Given the description of an element on the screen output the (x, y) to click on. 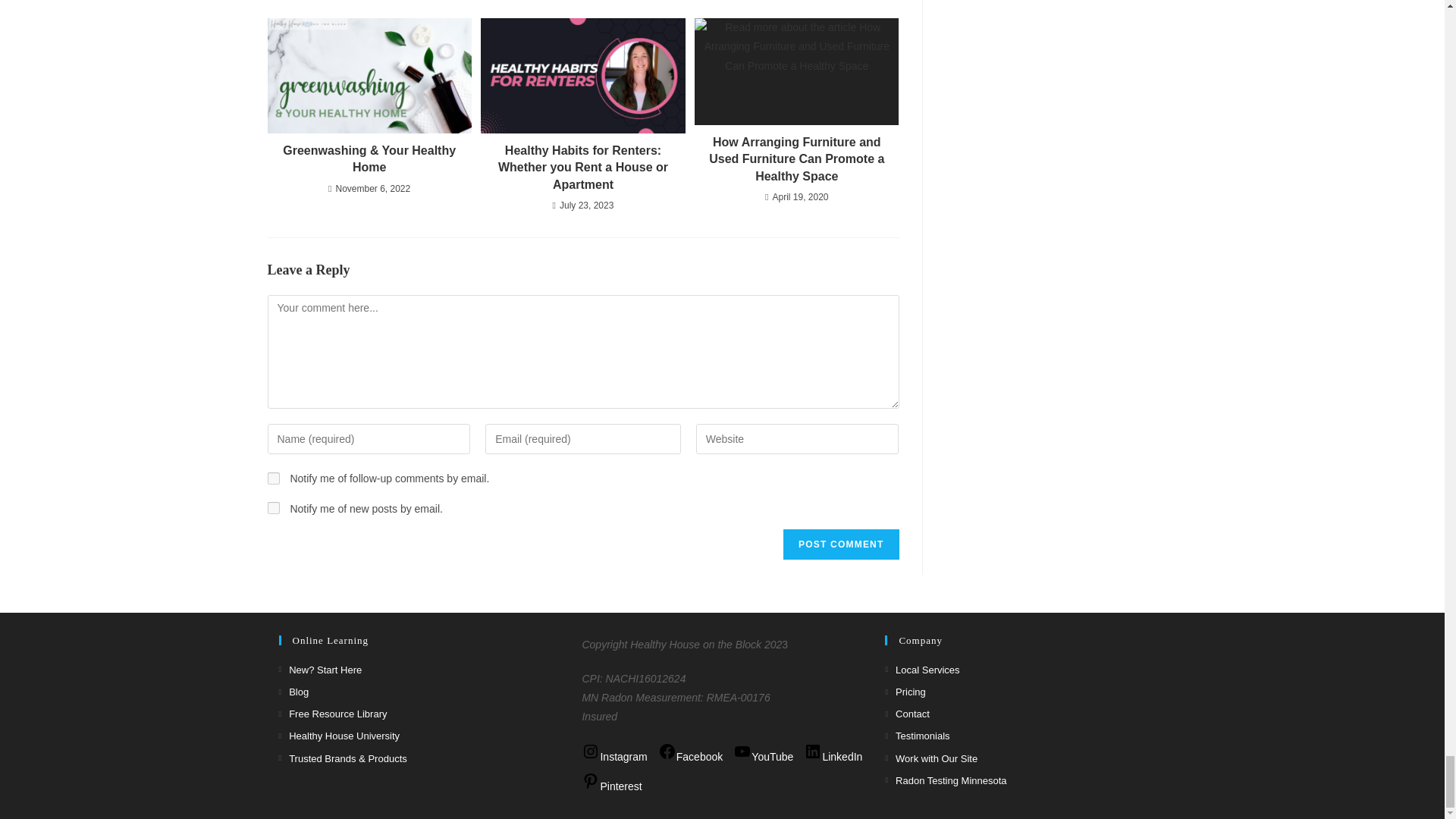
Post Comment (840, 544)
subscribe (272, 478)
subscribe (272, 508)
